Given the description of an element on the screen output the (x, y) to click on. 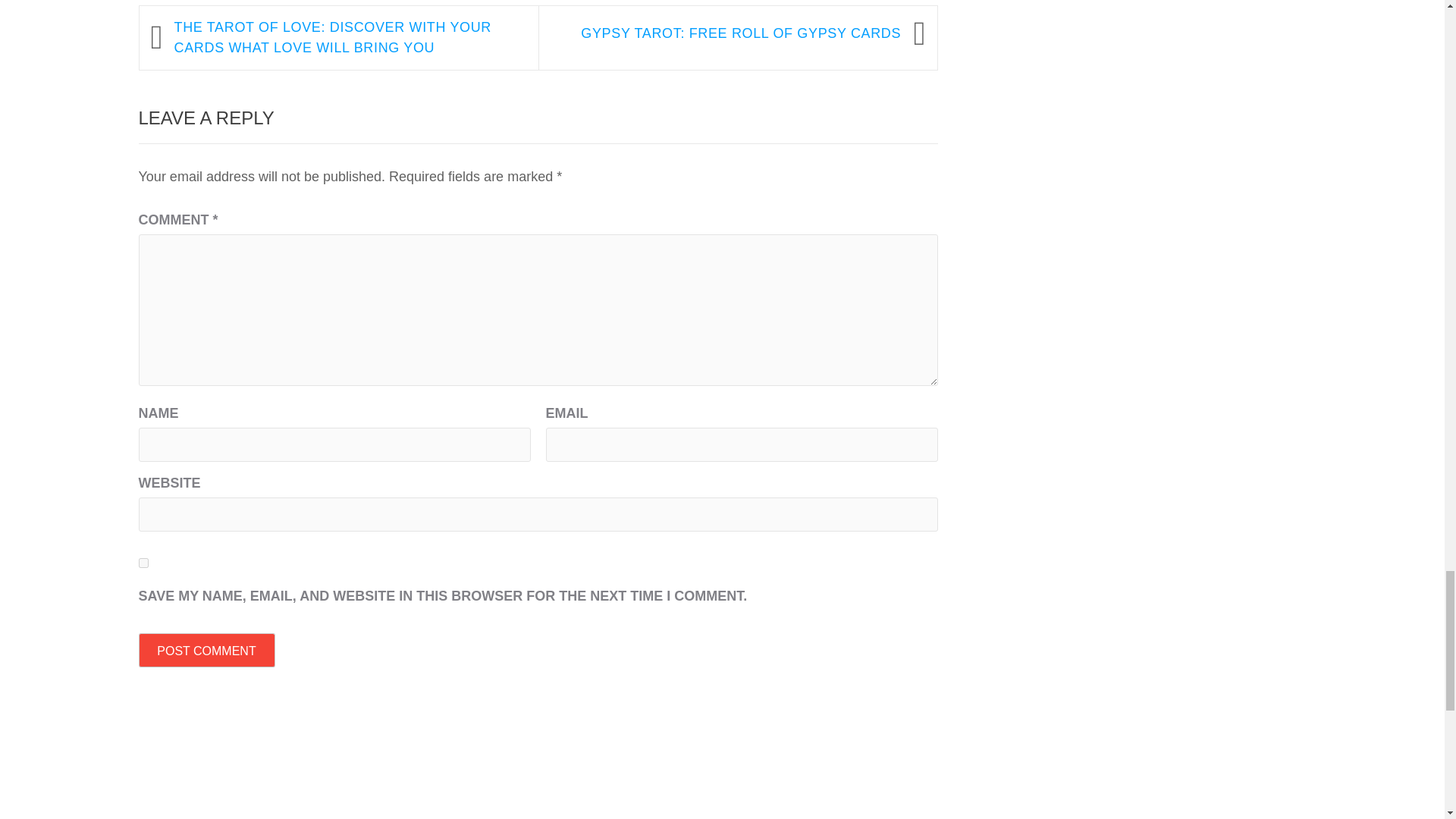
Post Comment (206, 650)
Post Comment (206, 650)
GYPSY TAROT: FREE ROLL OF GYPSY CARDS (726, 33)
